Given the description of an element on the screen output the (x, y) to click on. 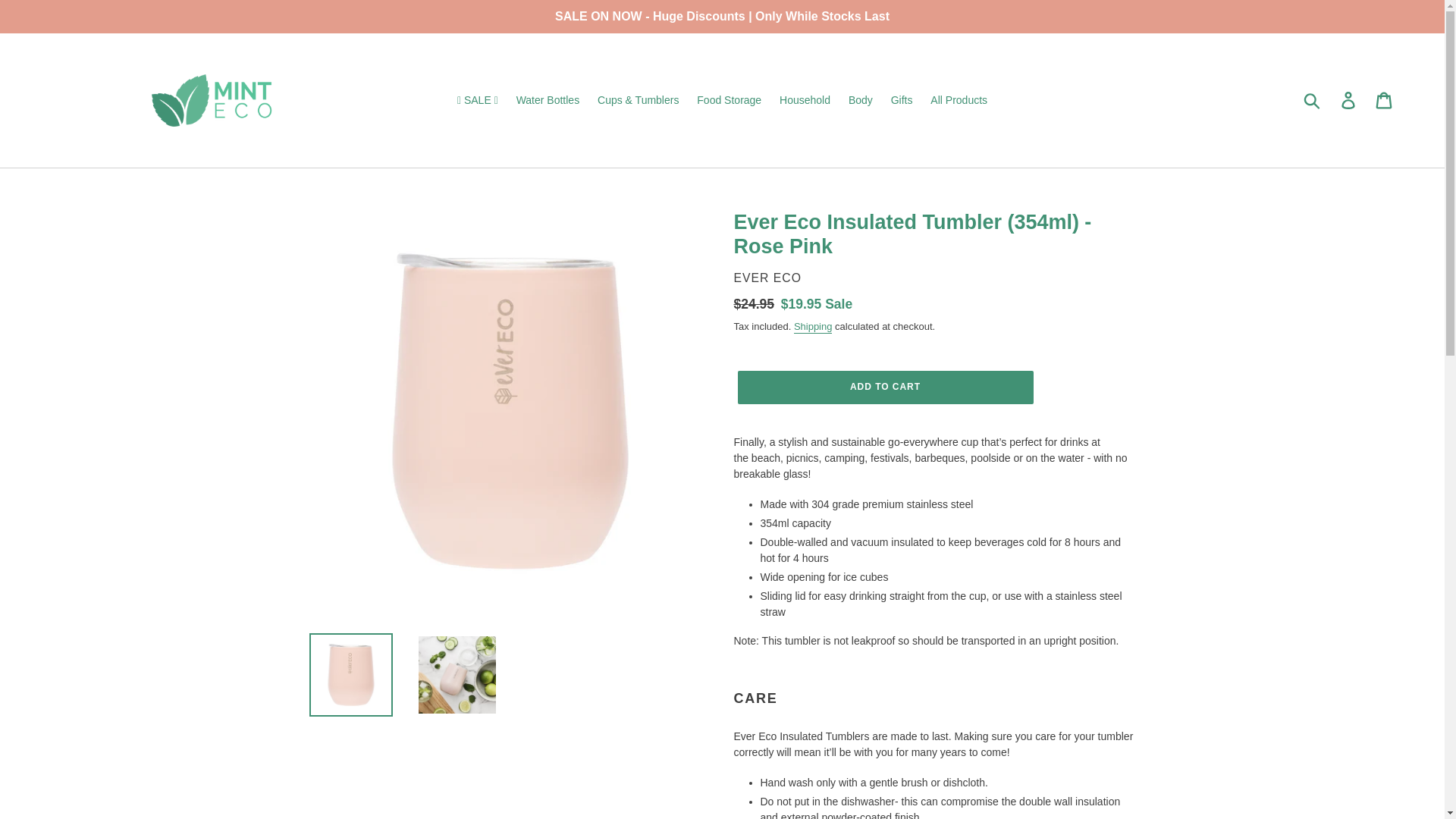
Food Storage (728, 100)
Log in (1349, 100)
Shipping (812, 327)
Body (860, 100)
All Products (958, 100)
Water Bottles (548, 100)
Cart (1385, 100)
Gifts (901, 100)
ADD TO CART (884, 387)
Submit (1313, 100)
Household (804, 100)
